Given the description of an element on the screen output the (x, y) to click on. 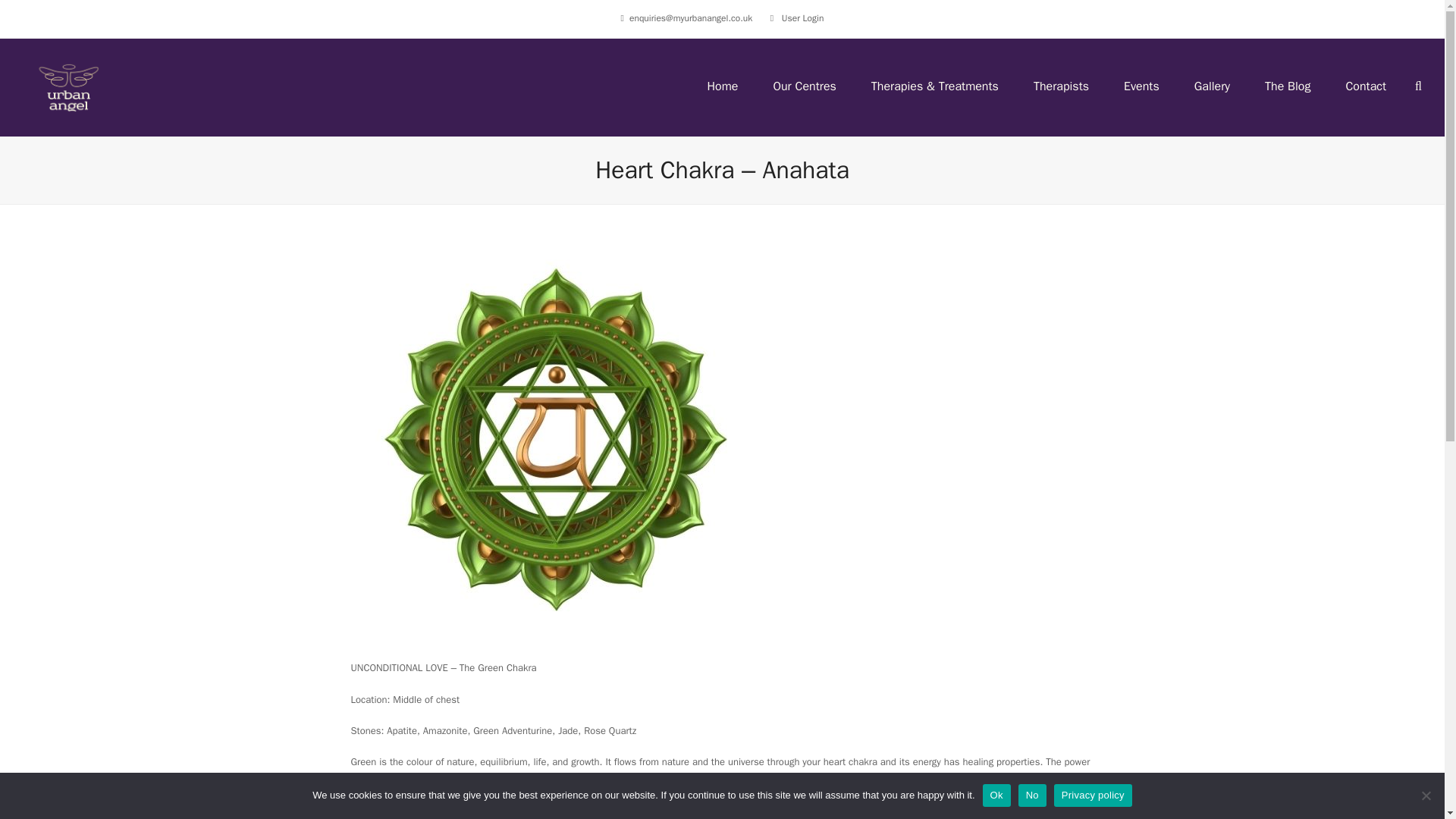
Home (722, 86)
User Login (802, 18)
The Blog (1287, 86)
No (1425, 795)
Gallery (1211, 86)
Therapists (1061, 86)
Events (1141, 86)
Contact (1365, 86)
Our Centres (804, 86)
